Given the description of an element on the screen output the (x, y) to click on. 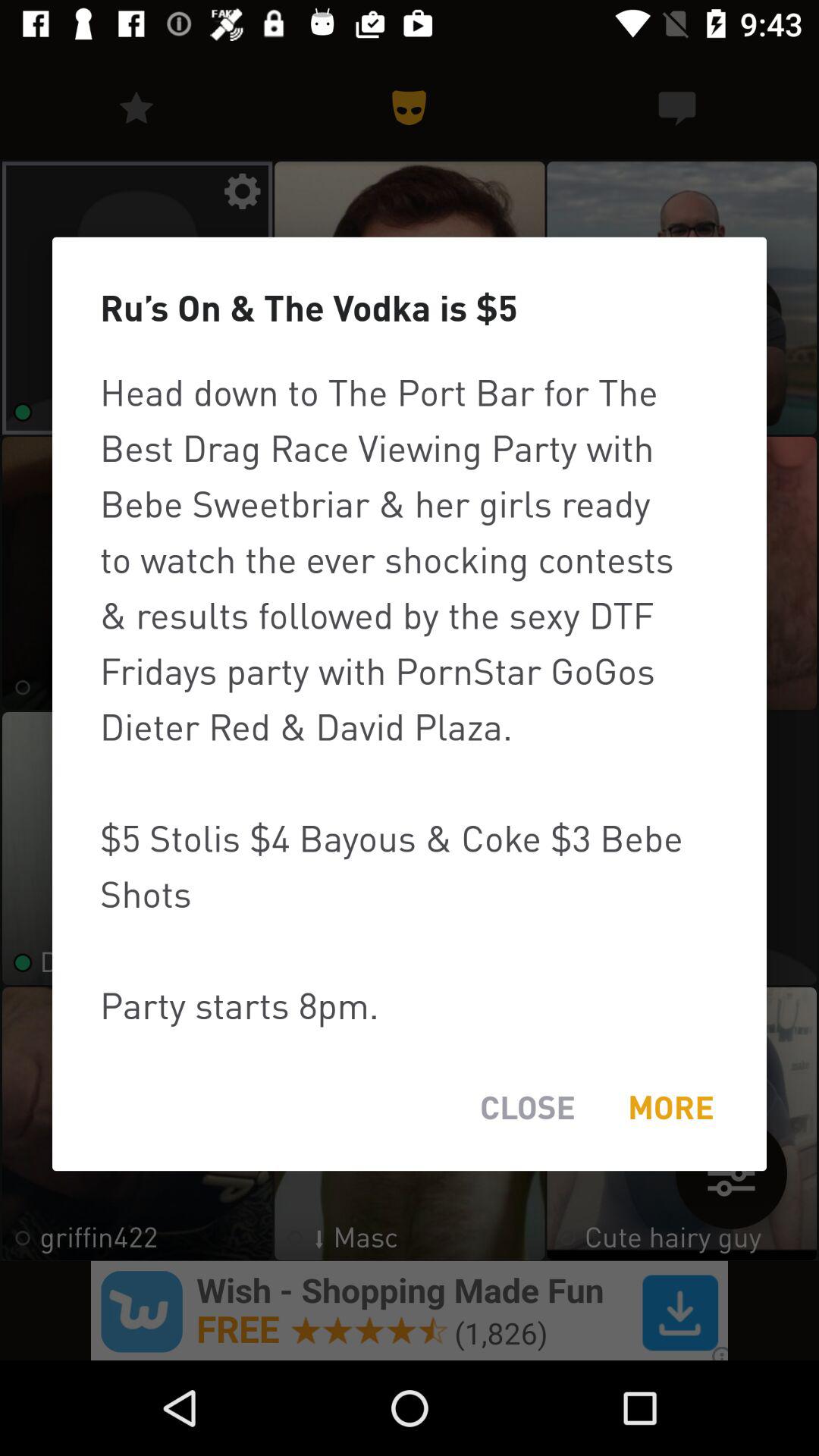
choose the close item (527, 1107)
